Given the description of an element on the screen output the (x, y) to click on. 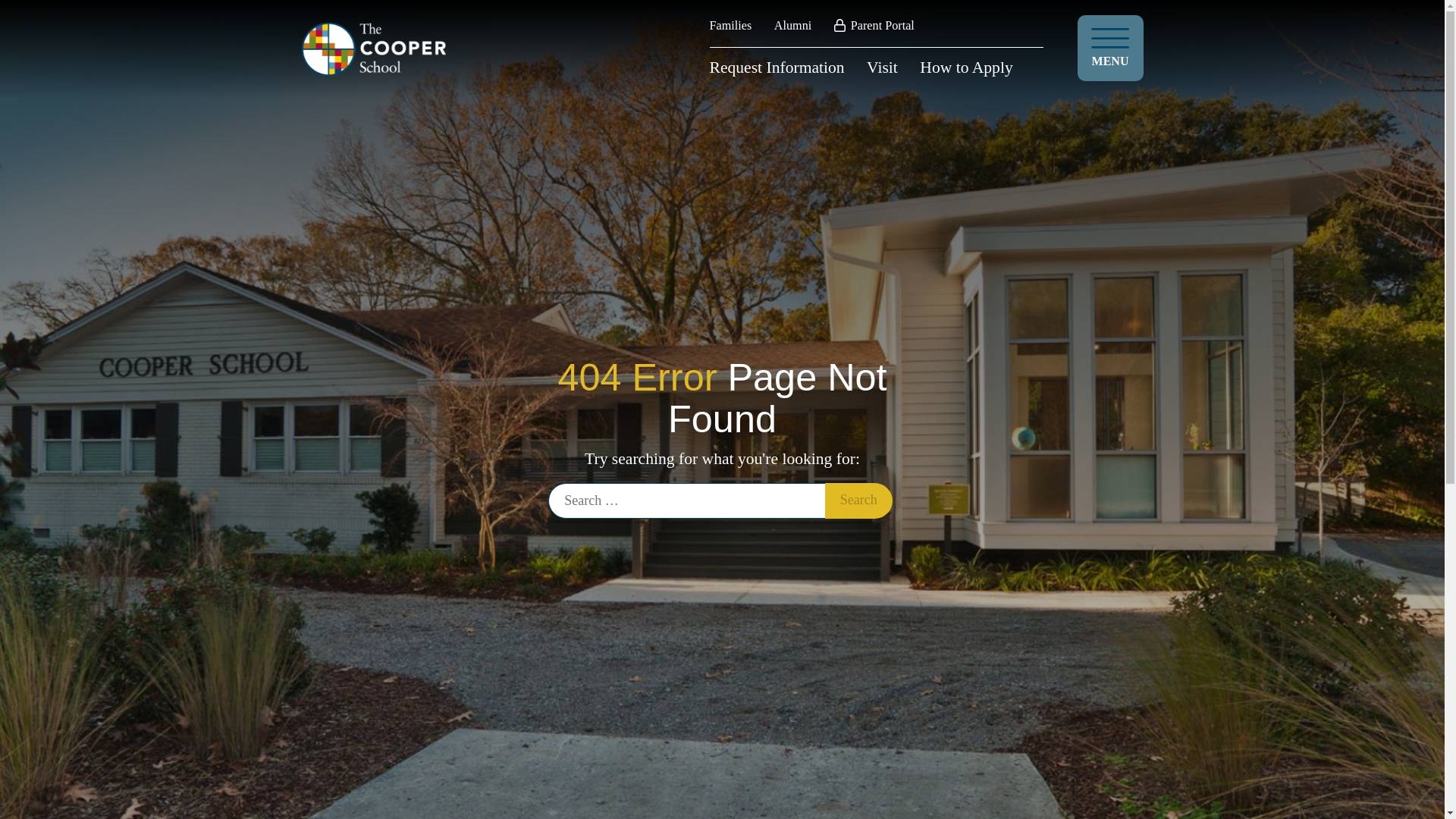
MENU (1109, 48)
Families (731, 25)
Search (858, 500)
Alumni (792, 25)
Visit (882, 67)
Parent Portal (874, 25)
How to Apply (965, 67)
Request Information (777, 67)
